Given the description of an element on the screen output the (x, y) to click on. 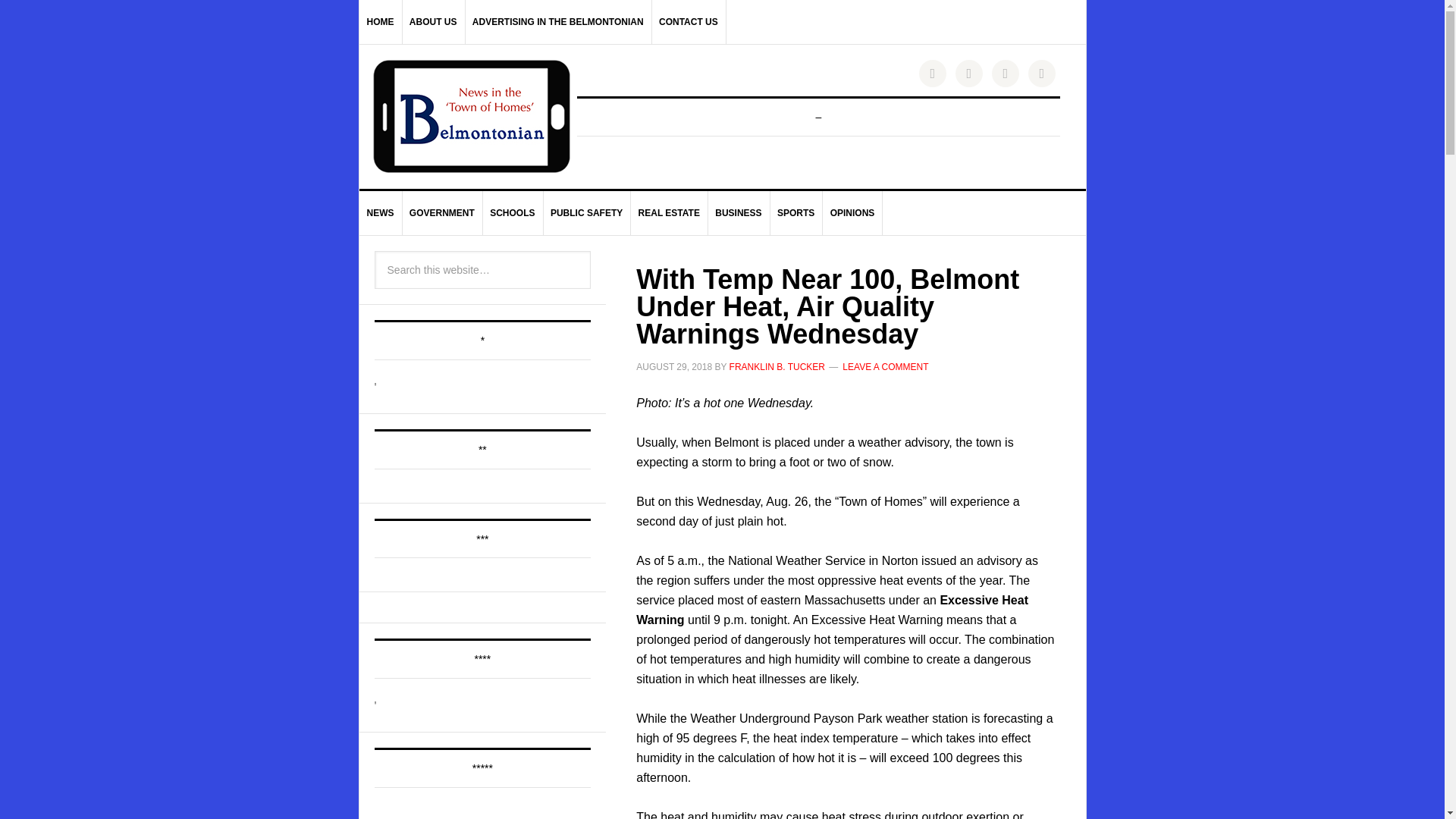
SPORTS (796, 212)
ABOUT US (433, 22)
CONTACT US (688, 22)
HOME (381, 22)
FRANKLIN B. TUCKER (777, 366)
NEWS (381, 212)
THE BELMONTONIAN (471, 116)
LEAVE A COMMENT (885, 366)
